Given the description of an element on the screen output the (x, y) to click on. 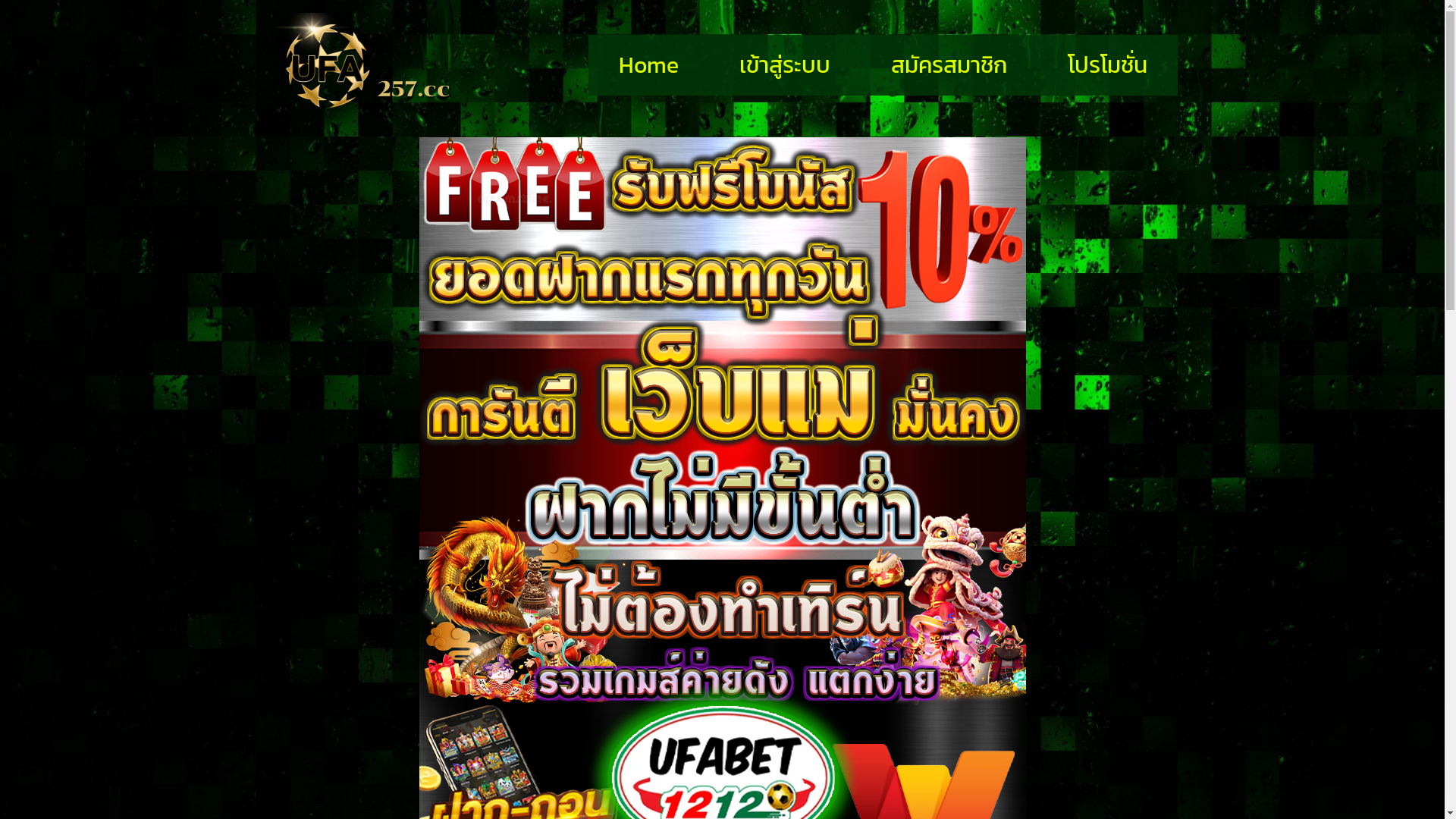
Home Element type: text (648, 64)
